Given the description of an element on the screen output the (x, y) to click on. 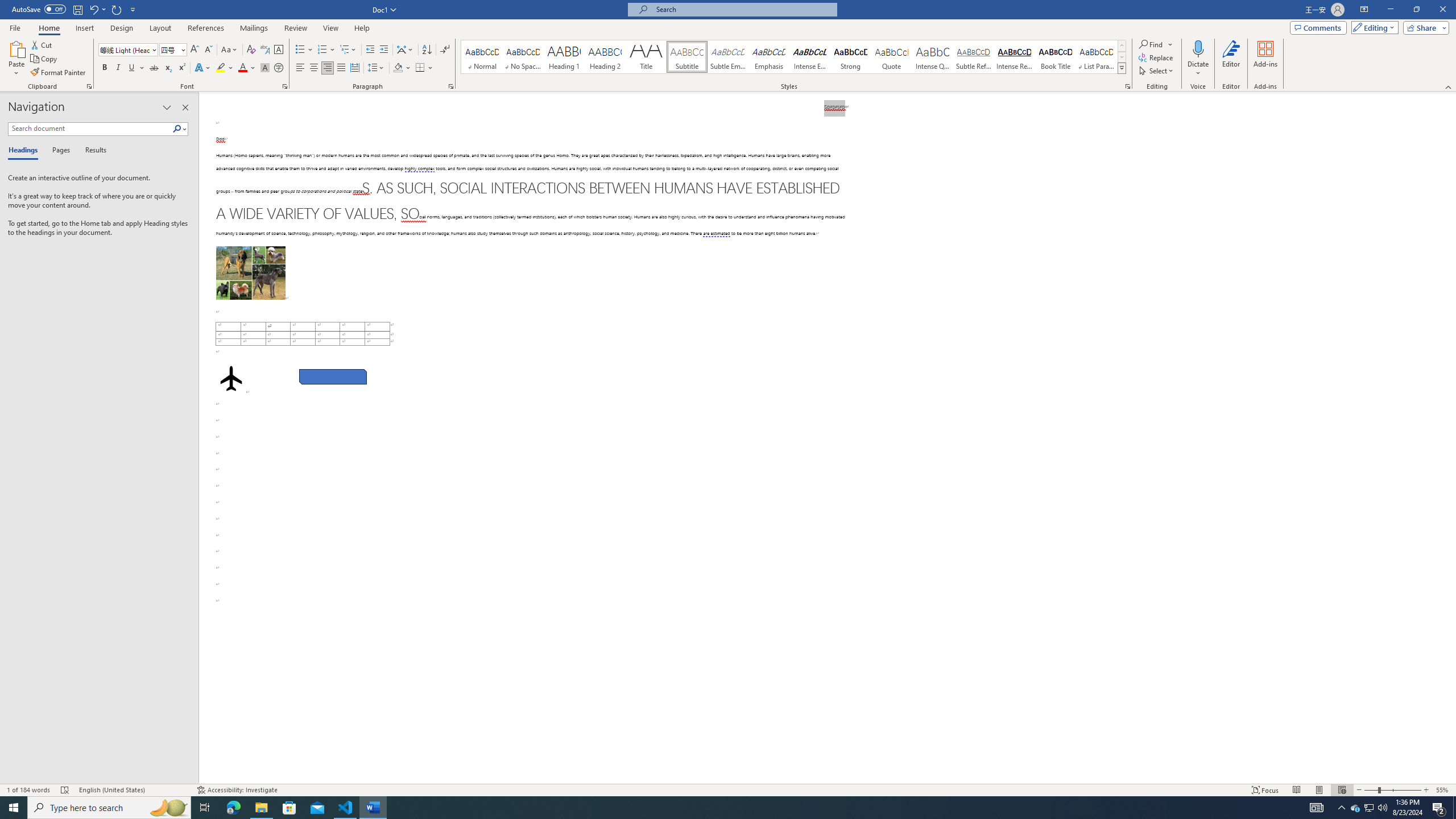
Undo Paragraph Alignment (96, 9)
Borders (419, 67)
Center (313, 67)
Design (122, 28)
Font Color Red (241, 67)
Layout (160, 28)
Underline (136, 67)
Shading RGB(0, 0, 0) (397, 67)
Bullets (300, 49)
Intense Reference (1014, 56)
Row Down (1121, 56)
Subtitle (686, 56)
Spelling and Grammar Check Errors (65, 790)
Collapse the Ribbon (1448, 86)
